Given the description of an element on the screen output the (x, y) to click on. 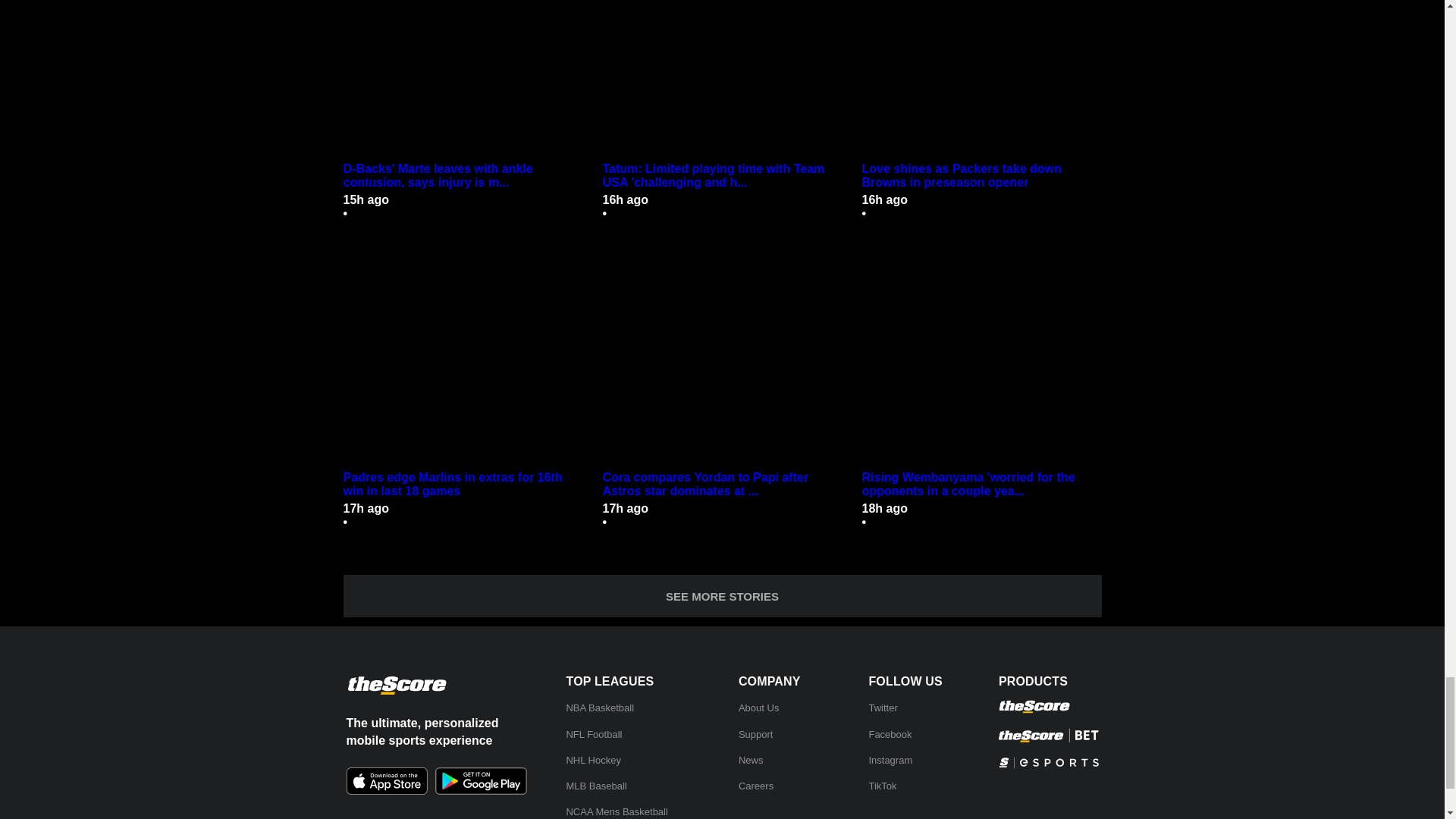
2024-08-11T02:25:01.000Z (365, 199)
Love shines as Packers take down Browns in preseason opener (980, 175)
Padres edge Marlins in extras for 16th win in last 18 games (462, 483)
